Given the description of an element on the screen output the (x, y) to click on. 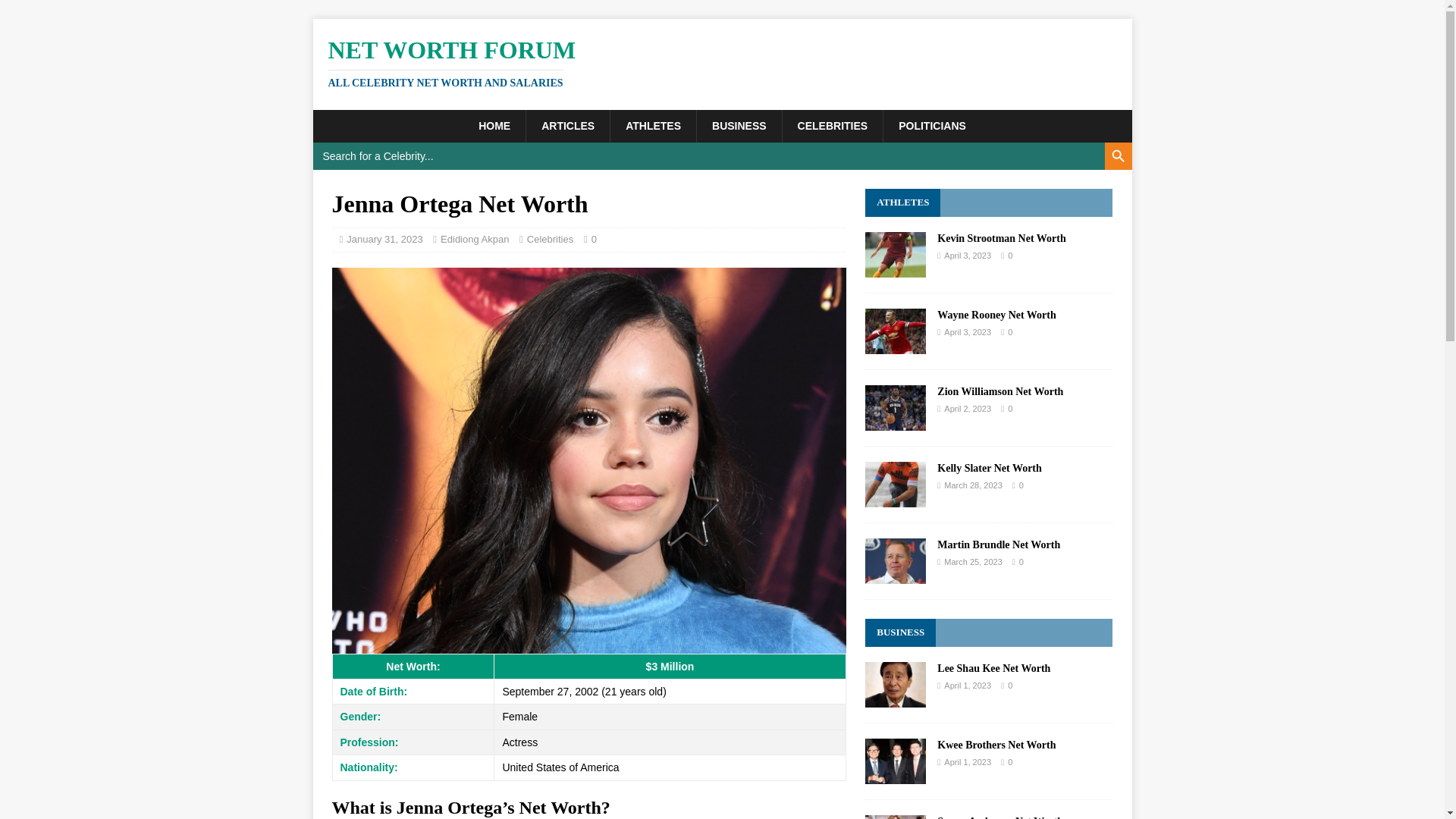
BUSINESS (738, 125)
Kevin Strootman Net Worth (721, 62)
Kwee Brothers Net Worth (1001, 238)
Edidiong Akpan (996, 745)
ATHLETES (474, 238)
Martin Brundle Net Worth (652, 125)
ATHLETES (998, 544)
Celebrities (902, 202)
CELEBRITIES (550, 238)
Lee Shau Kee Net Worth (832, 125)
Zion Williamson Net Worth (895, 698)
Wayne Rooney Net Worth (999, 391)
ARTICLES (895, 345)
Kevin Strootman Net Worth (567, 125)
